Given the description of an element on the screen output the (x, y) to click on. 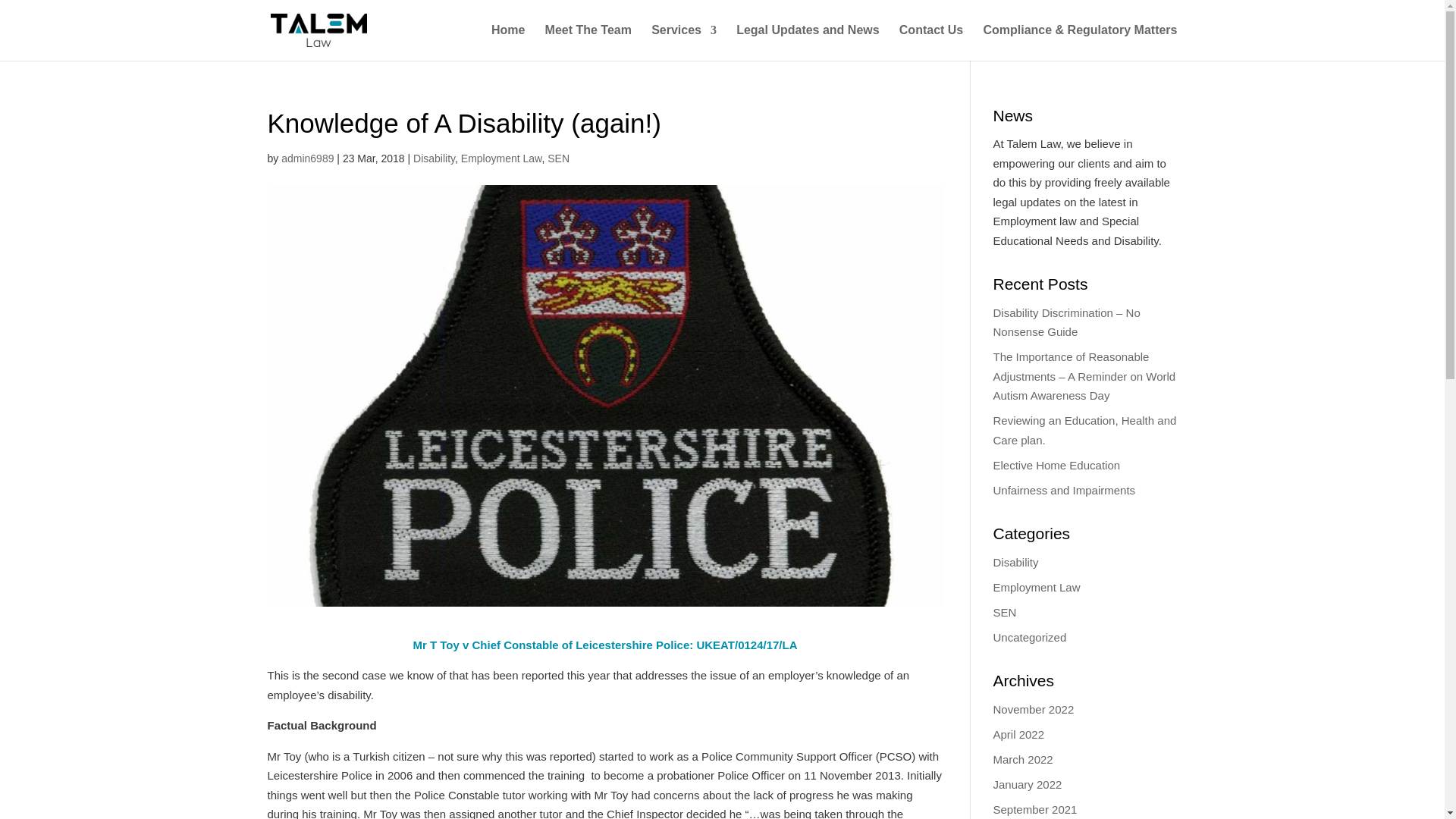
Elective Home Education (1056, 464)
SEN (1004, 612)
SEN (558, 158)
Disability (1015, 562)
Employment Law (501, 158)
Reviewing an Education, Health and Care plan. (1084, 430)
Uncategorized (1029, 636)
September 2021 (1034, 809)
March 2022 (1022, 758)
April 2022 (1018, 734)
January 2022 (1027, 784)
admin6989 (307, 158)
Unfairness and Impairments (1063, 490)
Employment Law (1036, 586)
Posts by admin6989 (307, 158)
